Given the description of an element on the screen output the (x, y) to click on. 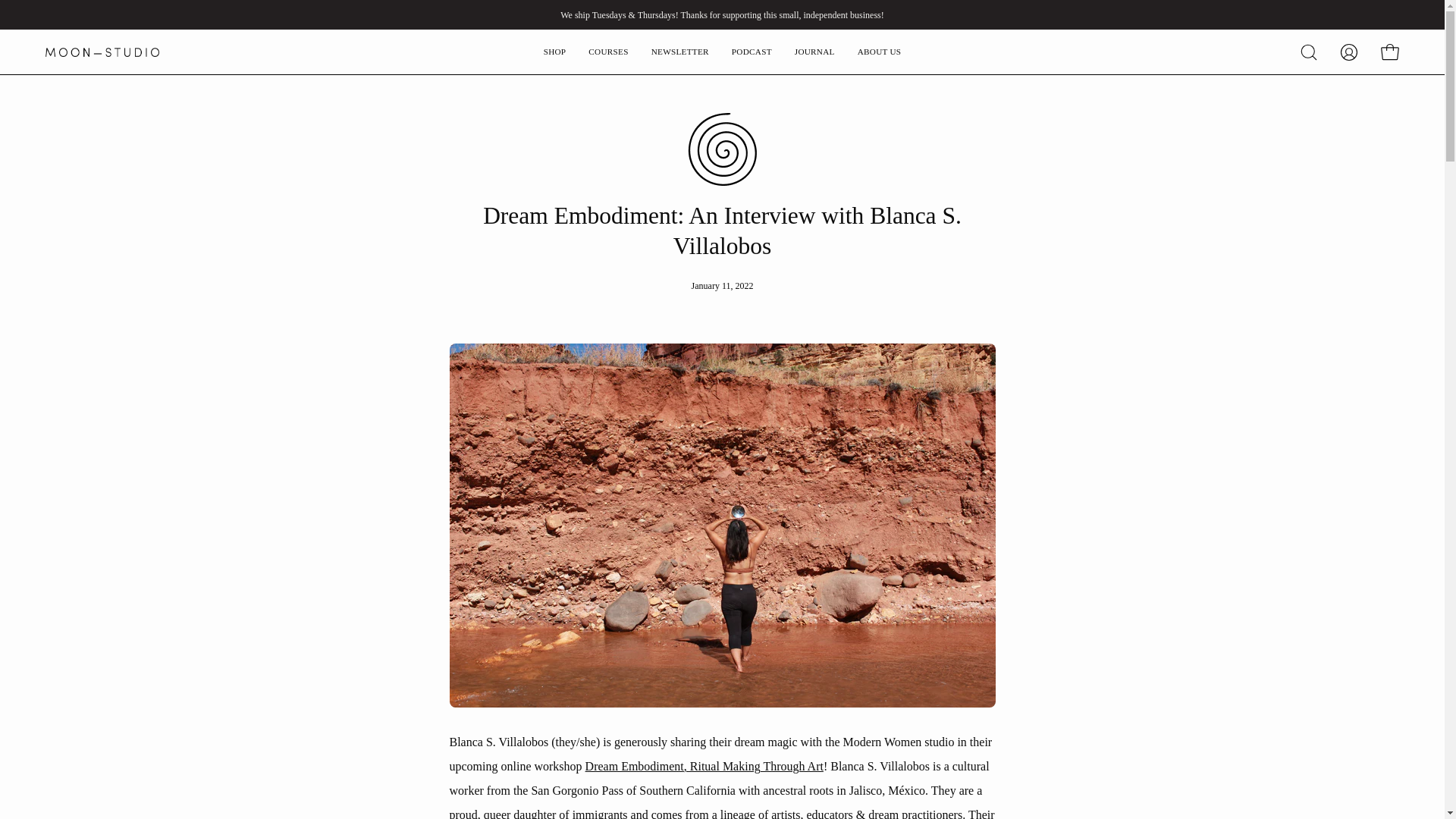
ABOUT US (878, 51)
SHOP (555, 51)
NEWSLETTER (680, 51)
JOURNAL (814, 51)
Open search bar (1308, 51)
COURSES (607, 51)
PODCAST (751, 51)
